Given the description of an element on the screen output the (x, y) to click on. 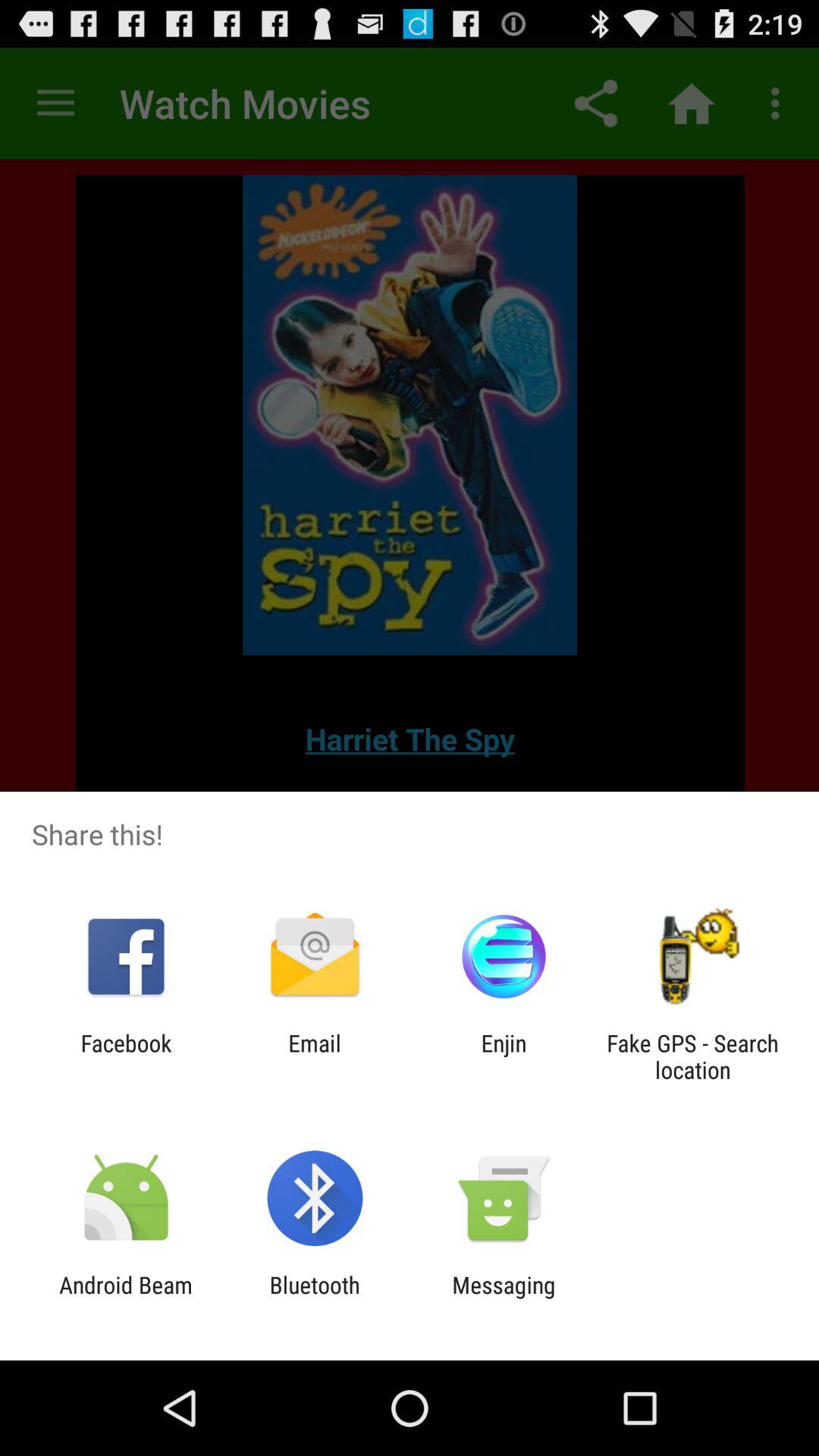
select icon next to messaging app (314, 1298)
